Given the description of an element on the screen output the (x, y) to click on. 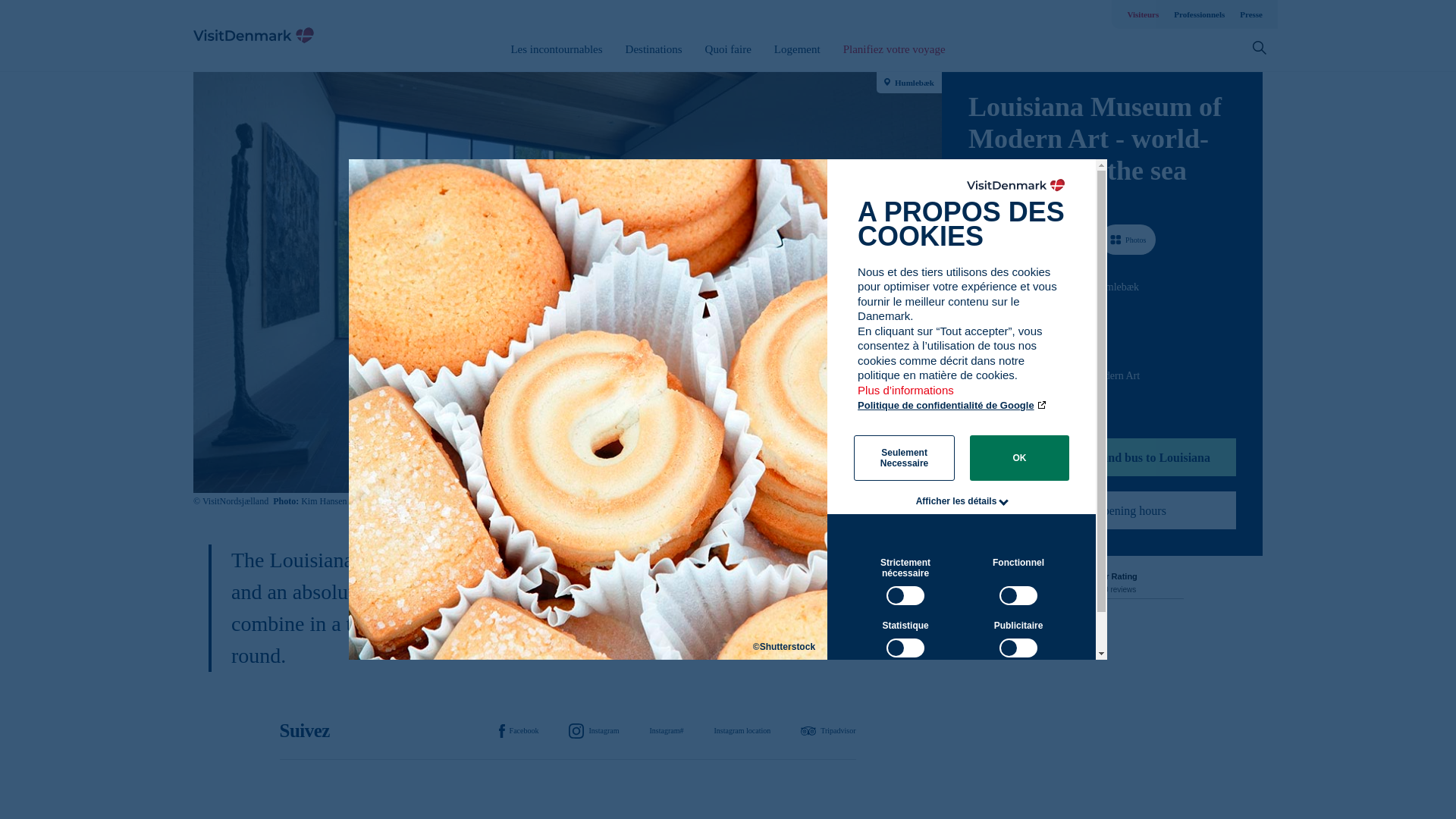
Path (973, 314)
Path (973, 374)
OK (1018, 457)
Seulement Necessaire (904, 457)
